Given the description of an element on the screen output the (x, y) to click on. 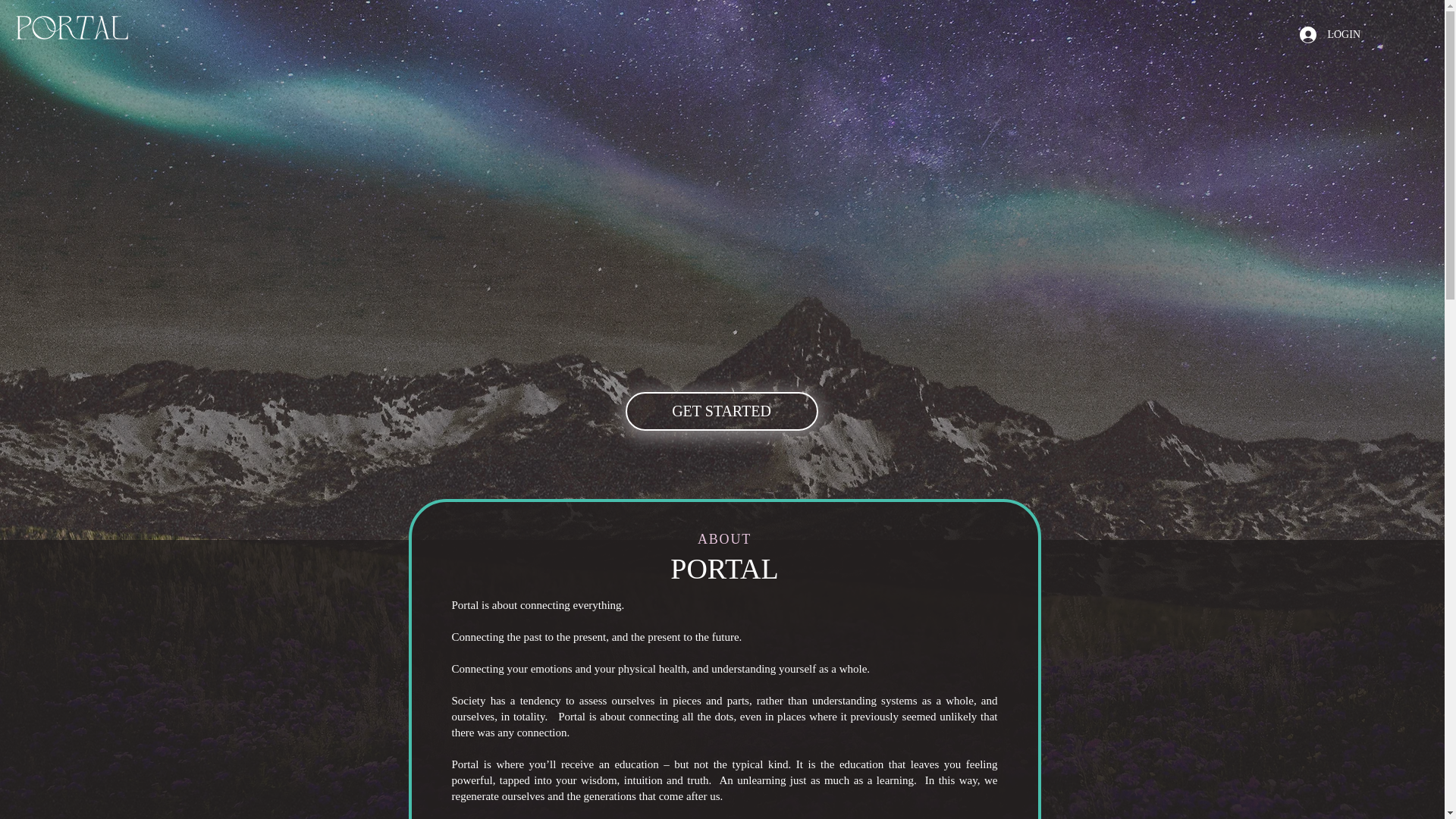
LOGIN (1329, 33)
Primary Logo - White.png (71, 27)
GET STARTED (720, 411)
